Given the description of an element on the screen output the (x, y) to click on. 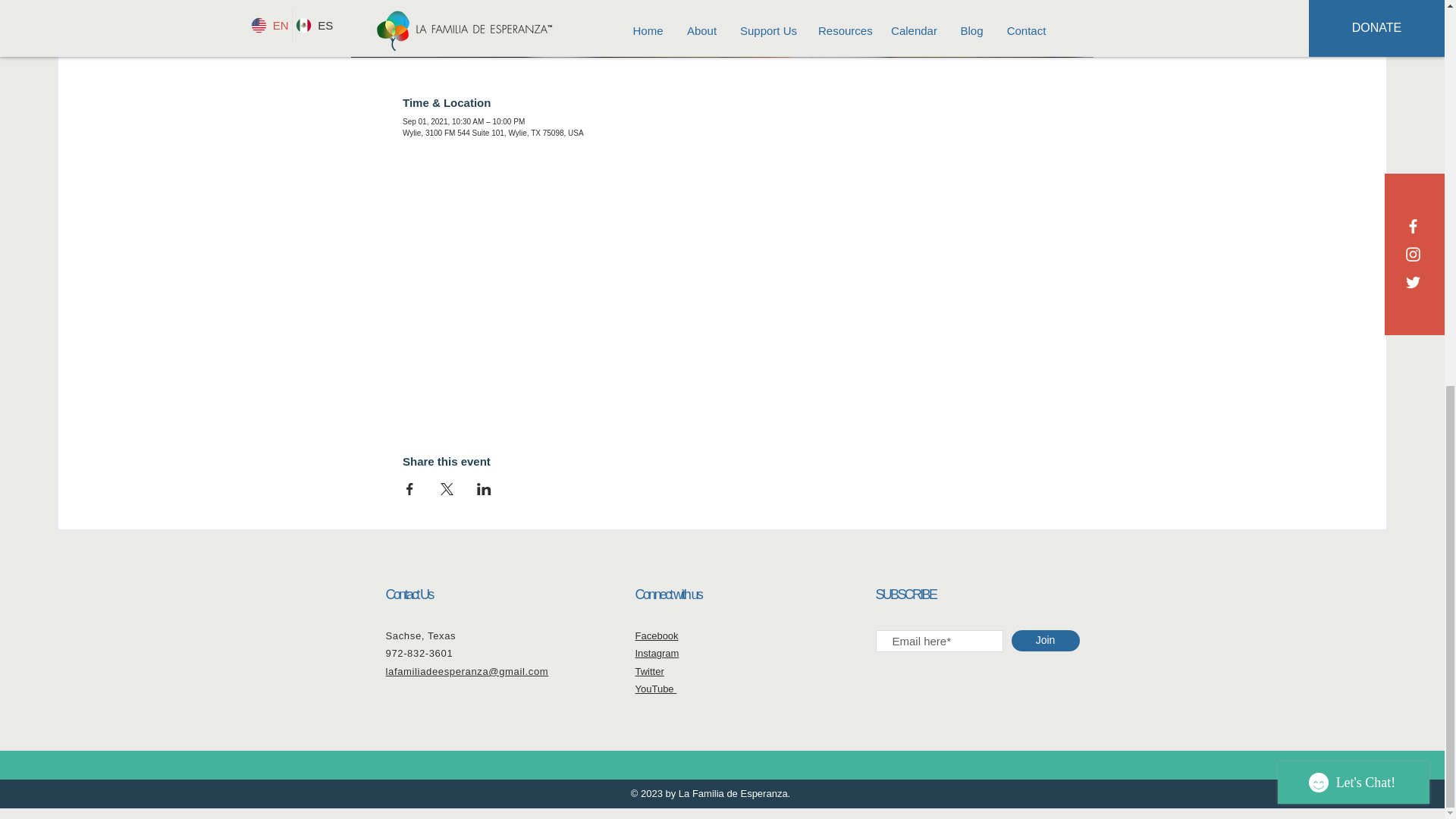
YouTube  (655, 688)
Facebook (656, 635)
Instagram (656, 653)
Join (1045, 640)
Twitter (648, 671)
